Given the description of an element on the screen output the (x, y) to click on. 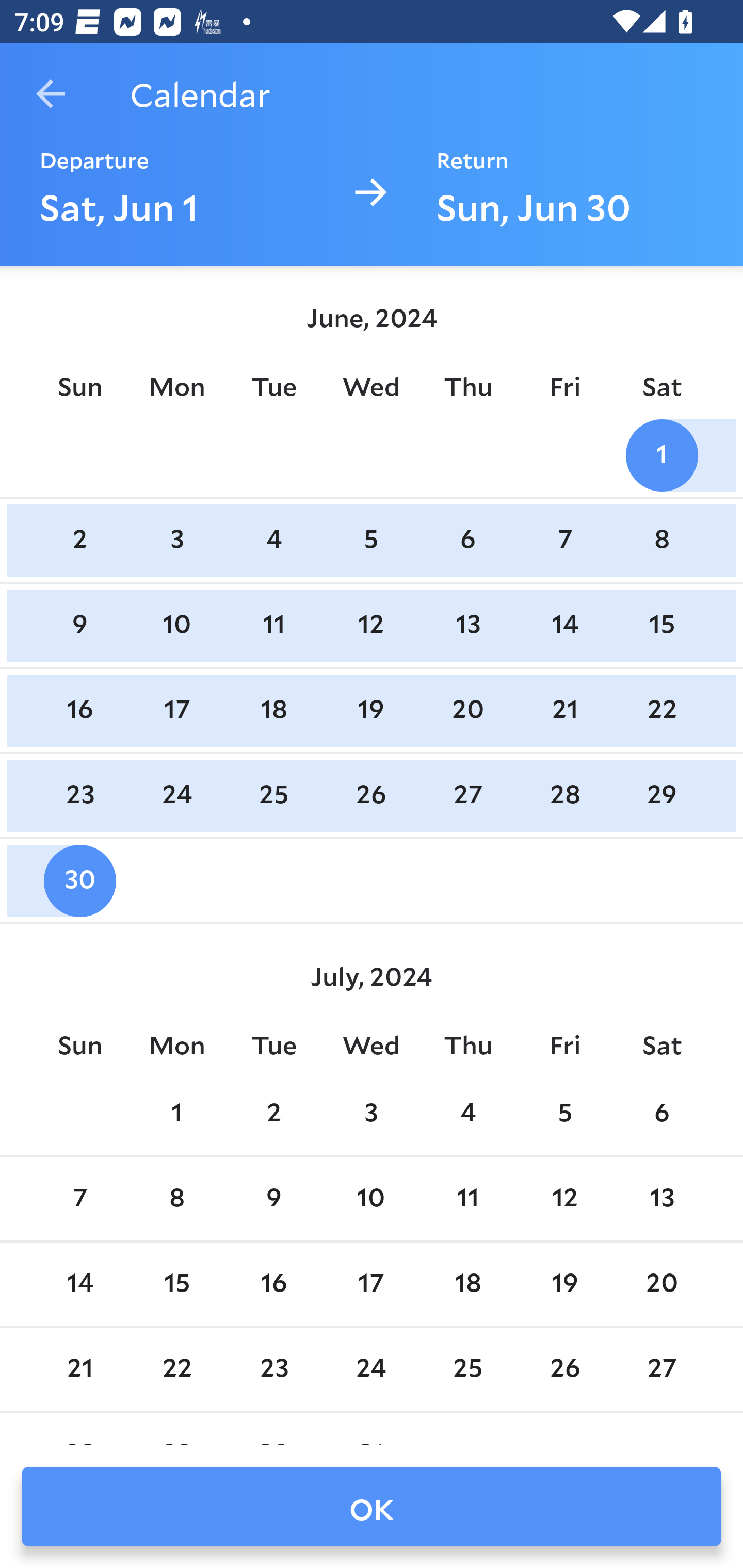
Navigate up (50, 93)
1 (661, 454)
2 (79, 540)
3 (177, 540)
4 (273, 540)
5 (371, 540)
6 (467, 540)
7 (565, 540)
8 (661, 540)
9 (79, 625)
10 (177, 625)
11 (273, 625)
12 (371, 625)
13 (467, 625)
14 (565, 625)
15 (661, 625)
16 (79, 710)
17 (177, 710)
18 (273, 710)
19 (371, 710)
20 (467, 710)
21 (565, 710)
22 (661, 710)
23 (79, 796)
24 (177, 796)
25 (273, 796)
26 (371, 796)
27 (467, 796)
28 (565, 796)
29 (661, 796)
30 (79, 881)
1 (177, 1114)
2 (273, 1114)
3 (371, 1114)
4 (467, 1114)
5 (565, 1114)
6 (661, 1114)
7 (79, 1199)
8 (177, 1199)
9 (273, 1199)
10 (371, 1199)
11 (467, 1199)
12 (565, 1199)
13 (661, 1199)
14 (79, 1284)
15 (177, 1284)
16 (273, 1284)
17 (371, 1284)
18 (467, 1284)
19 (565, 1284)
